Given the description of an element on the screen output the (x, y) to click on. 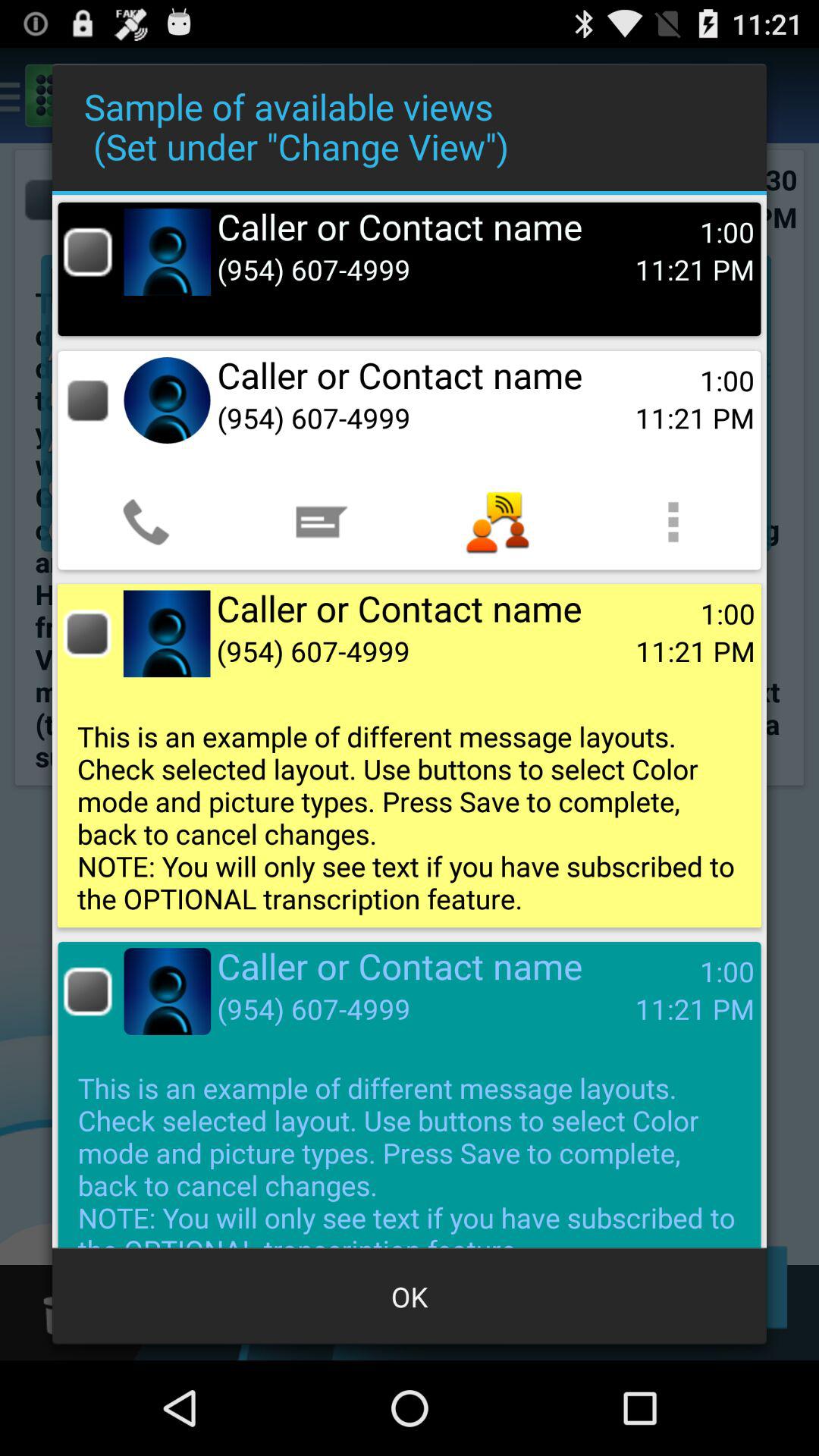
flip to ok item (409, 1296)
